Given the description of an element on the screen output the (x, y) to click on. 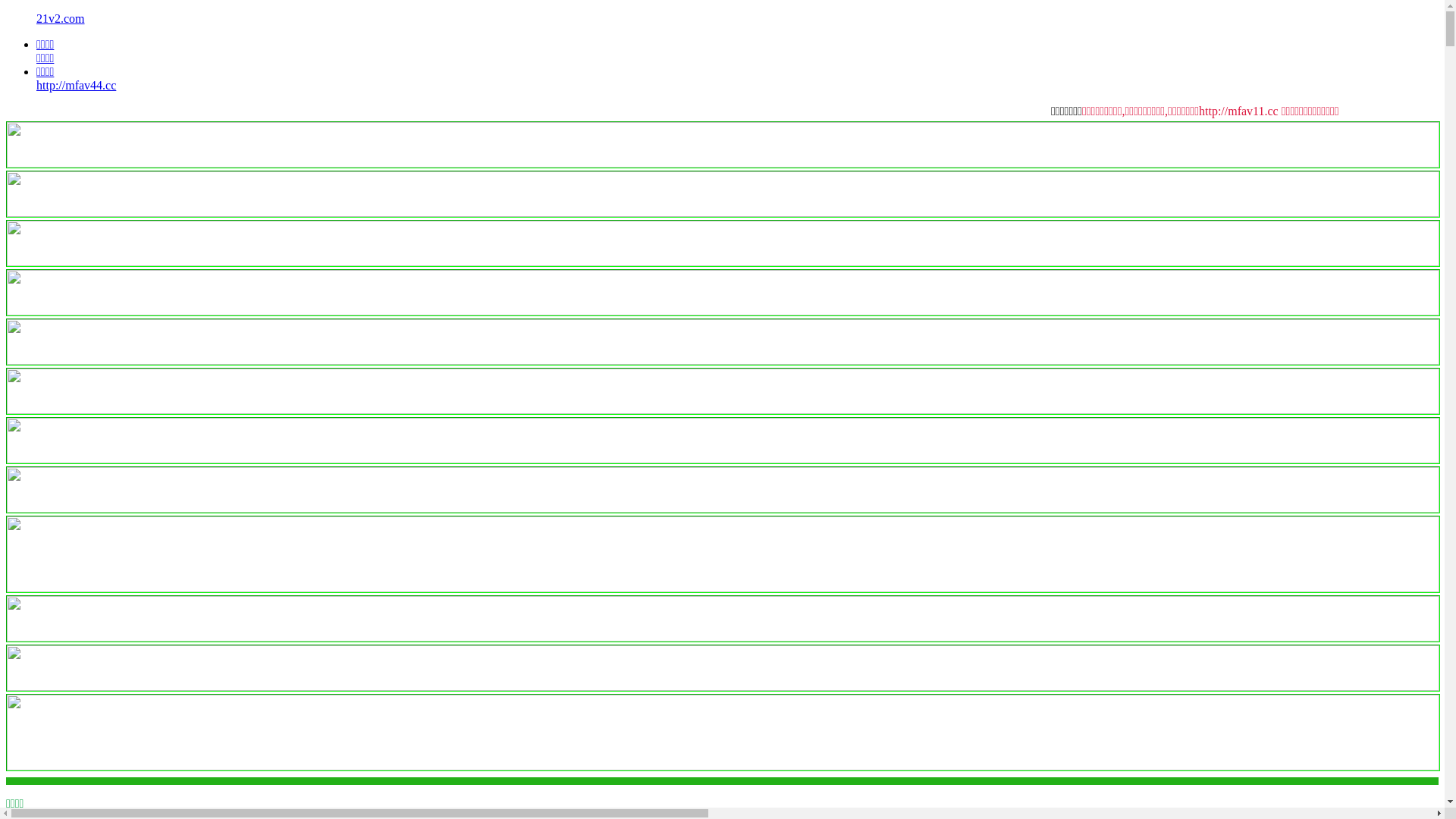
21v2.com Element type: text (60, 18)
http://mfav44.cc Element type: text (76, 84)
